Given the description of an element on the screen output the (x, y) to click on. 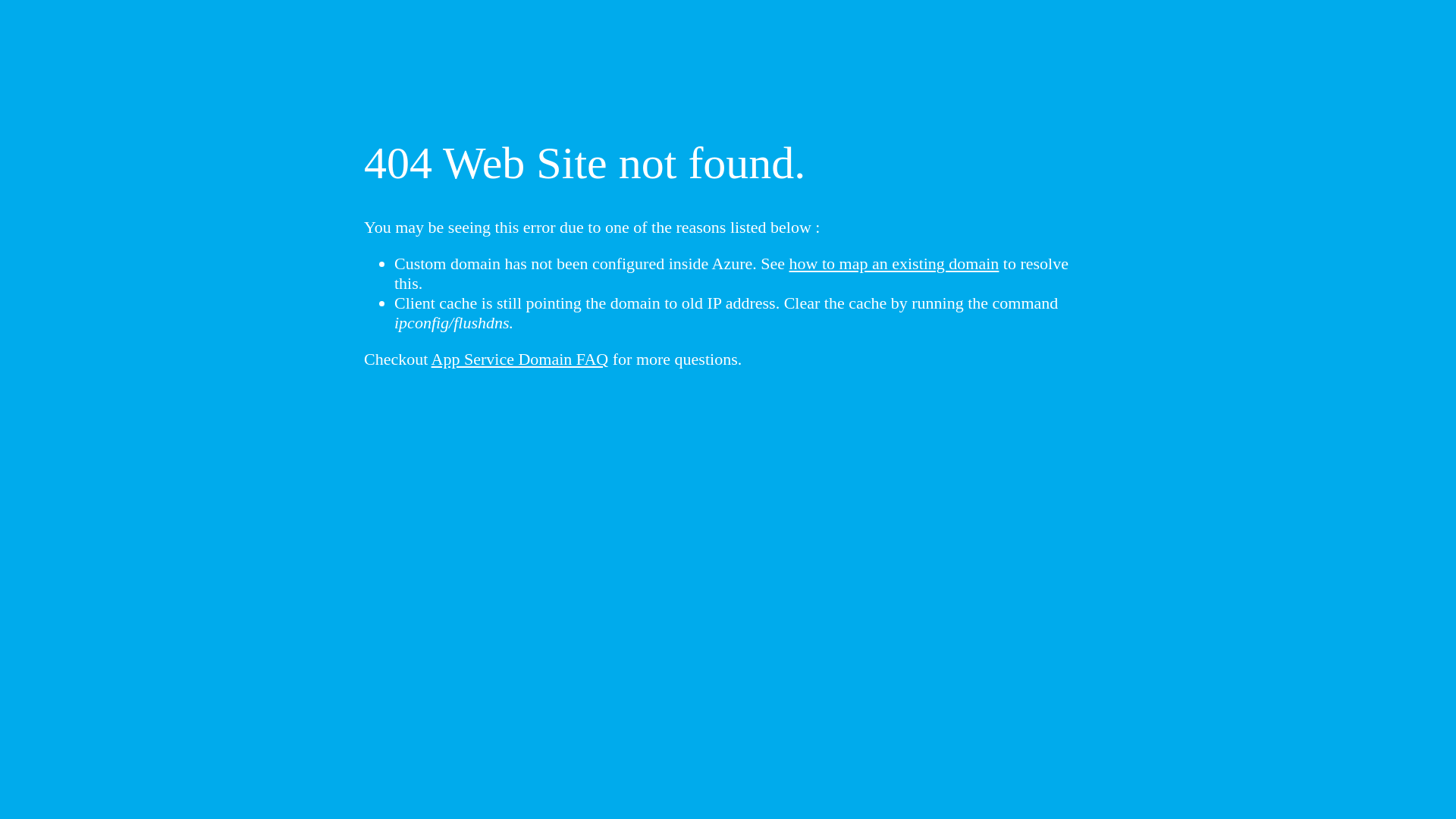
App Service Domain FAQ Element type: text (519, 358)
how to map an existing domain Element type: text (894, 263)
